Given the description of an element on the screen output the (x, y) to click on. 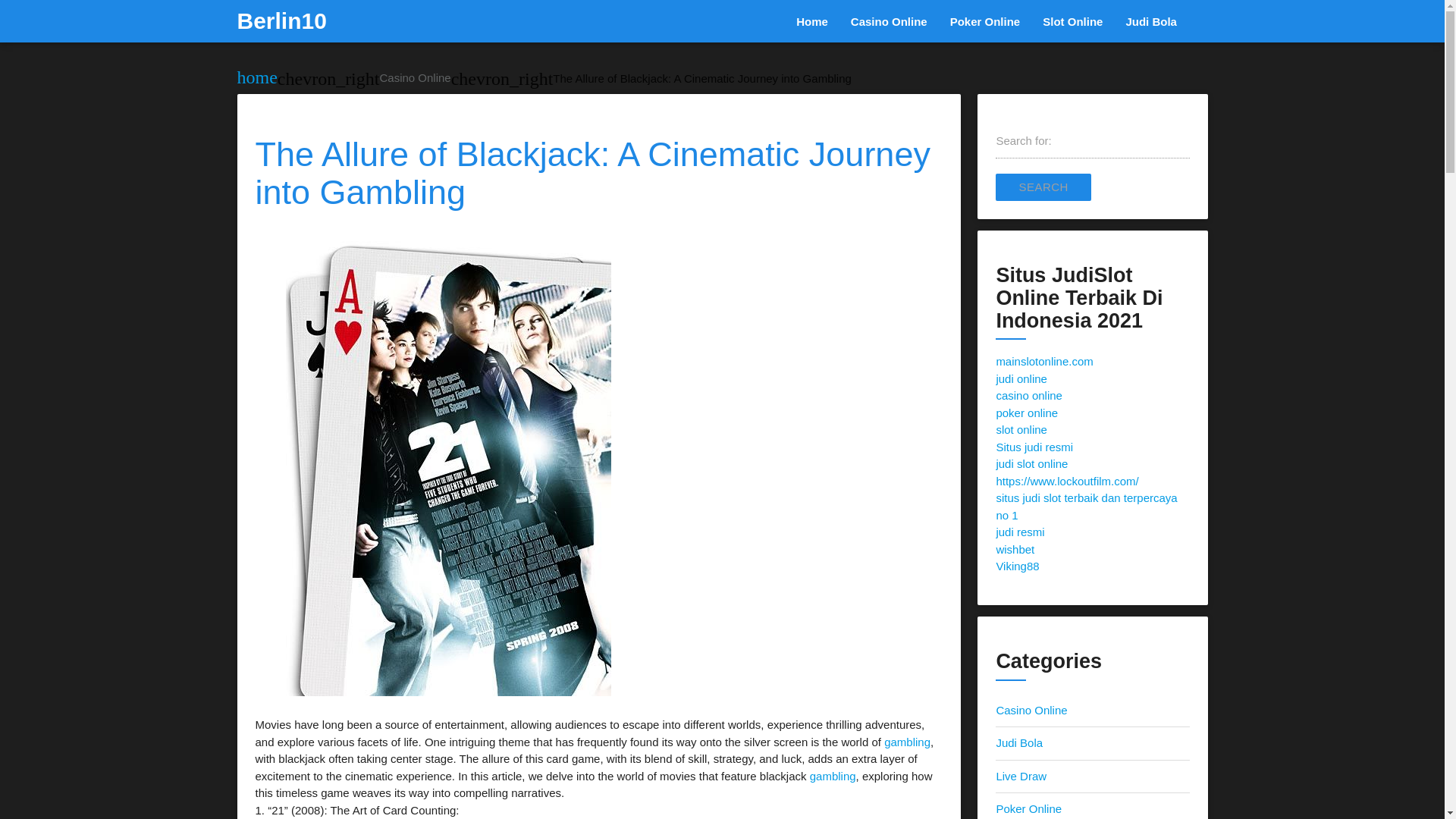
gambling (906, 741)
Live Draw (1020, 775)
judi resmi (1019, 531)
judi slot online (1031, 463)
The Allure of Blackjack: A Cinematic Journey into Gambling (702, 78)
Slot Online (1071, 21)
Casino Online (889, 21)
Casino Online (1031, 709)
Berlin10 (280, 21)
casino online (1028, 395)
gambling (832, 775)
Poker Online (1028, 808)
situs judi slot terbaik dan terpercaya no 1 (1085, 506)
wishbet (1014, 549)
Judi Bola (1150, 21)
